Given the description of an element on the screen output the (x, y) to click on. 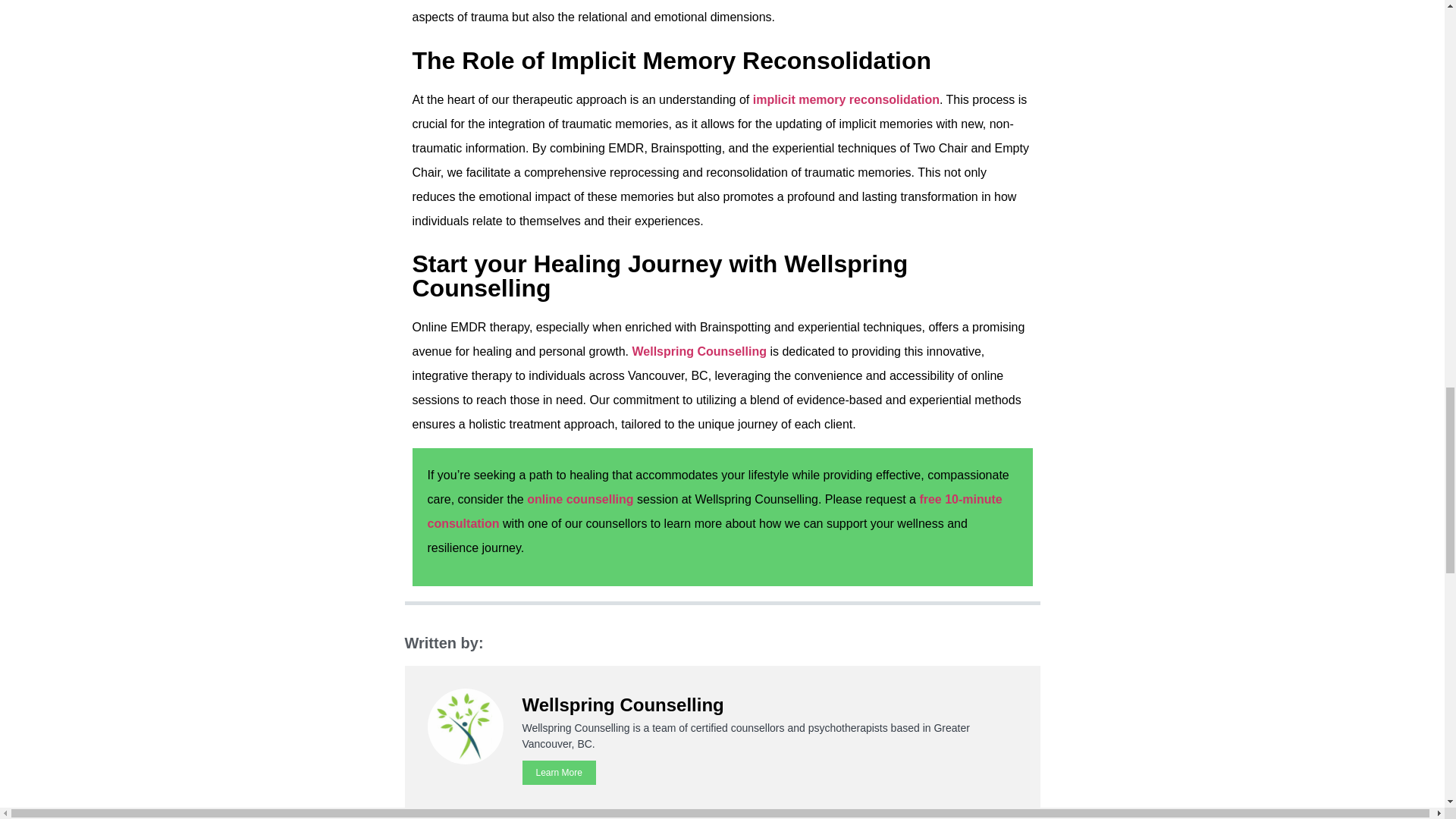
Request 10-Min Consultation (715, 511)
Wellspring Counselling Inc. - Vancouver Counselling Location (699, 350)
Online Counselling BC (580, 499)
